Given the description of an element on the screen output the (x, y) to click on. 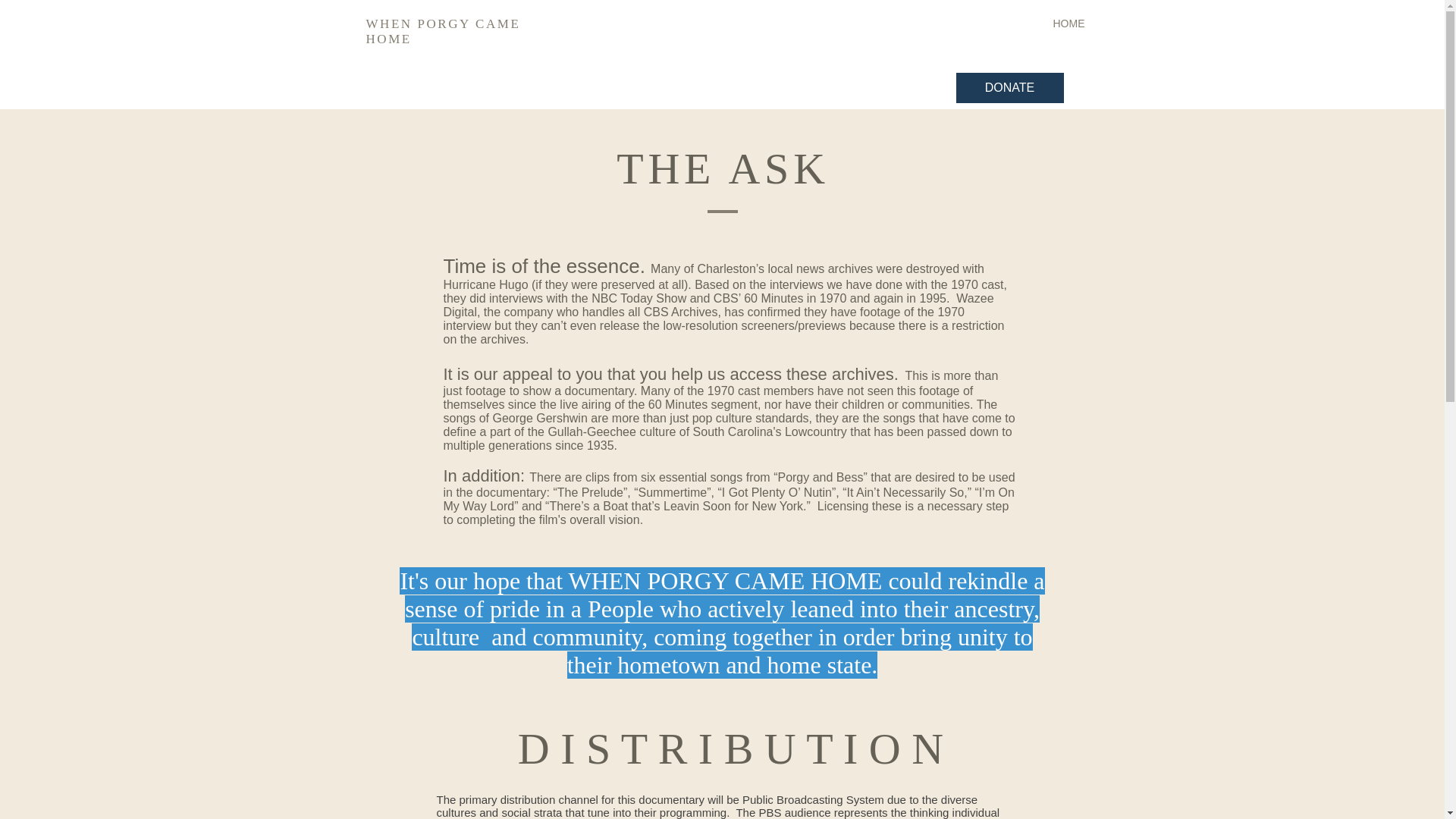
HOME (850, 22)
WHEN PORGY CAME HOME (442, 30)
DONATE (1008, 87)
